Given the description of an element on the screen output the (x, y) to click on. 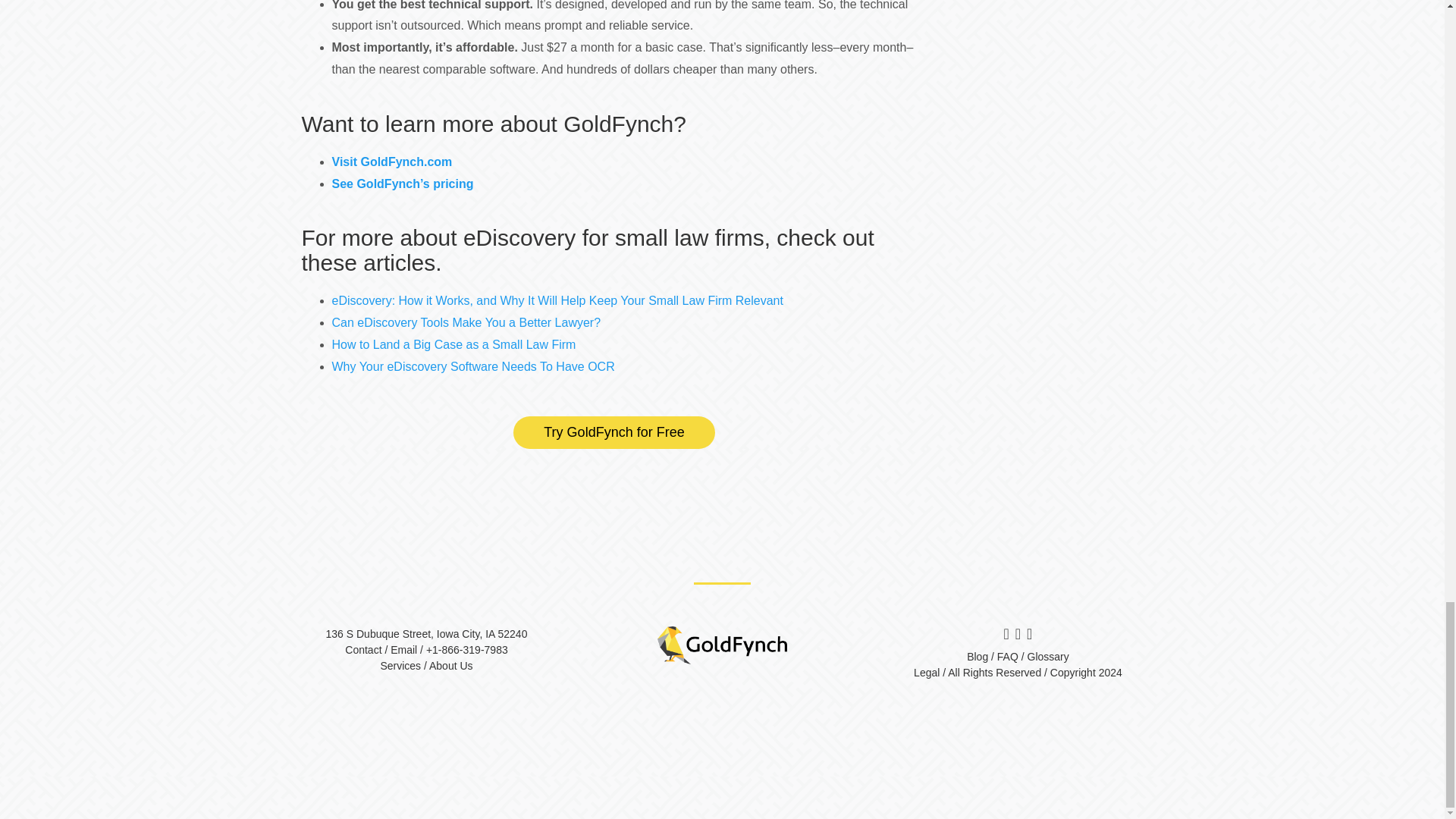
How to Land a Big Case as a Small Law Firm (453, 344)
Visit GoldFynch.com (391, 161)
Can eDiscovery Tools Make You a Better Lawyer? (466, 322)
Why Your eDiscovery Software Needs To Have OCR (472, 366)
Try GoldFynch for Free (613, 432)
Try GoldFynch for Free (613, 432)
